Given the description of an element on the screen output the (x, y) to click on. 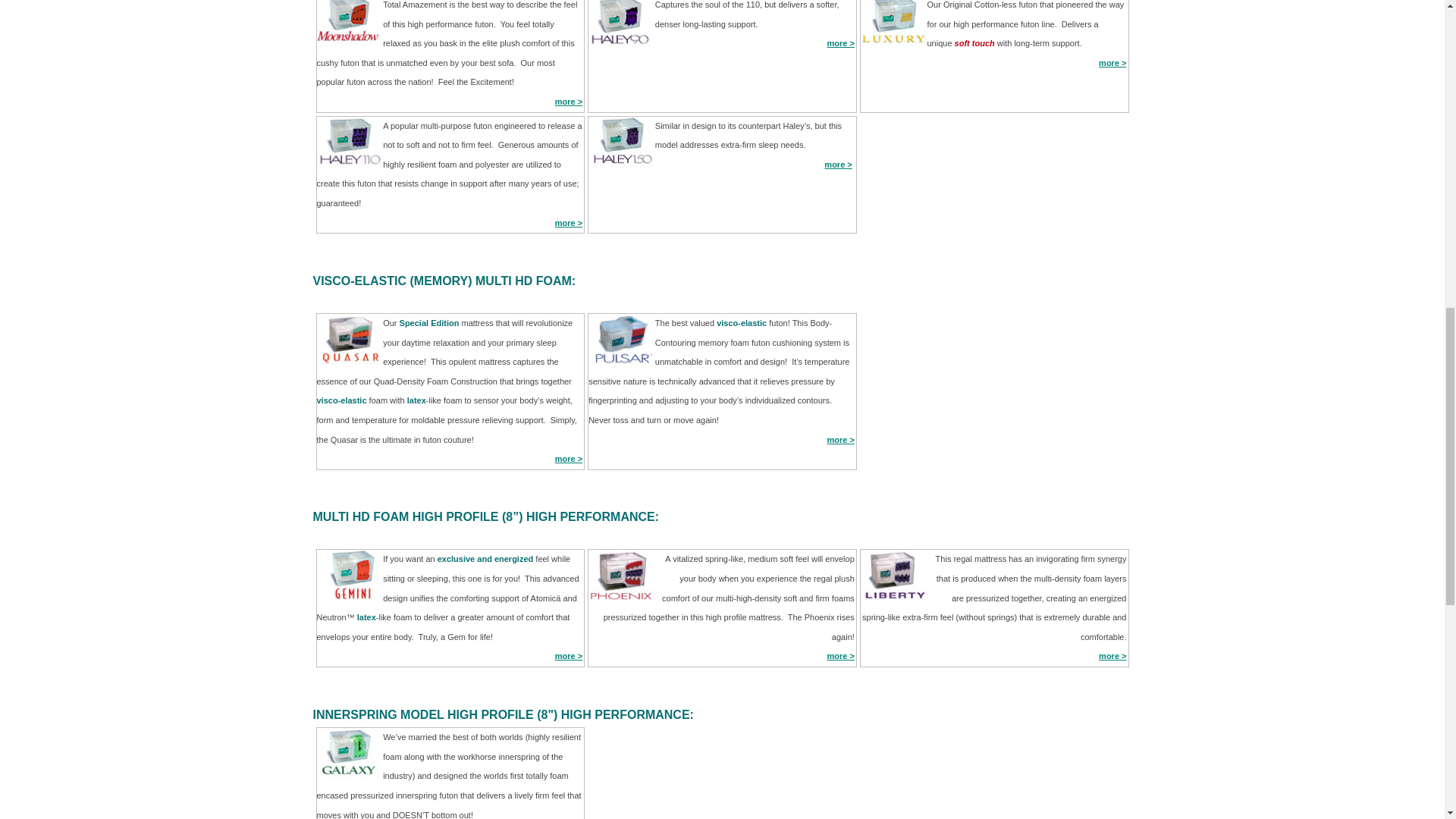
Phoenix (840, 655)
Pulsar (840, 439)
Liberty (1112, 655)
Quasar (568, 458)
Gemini (568, 655)
